Given the description of an element on the screen output the (x, y) to click on. 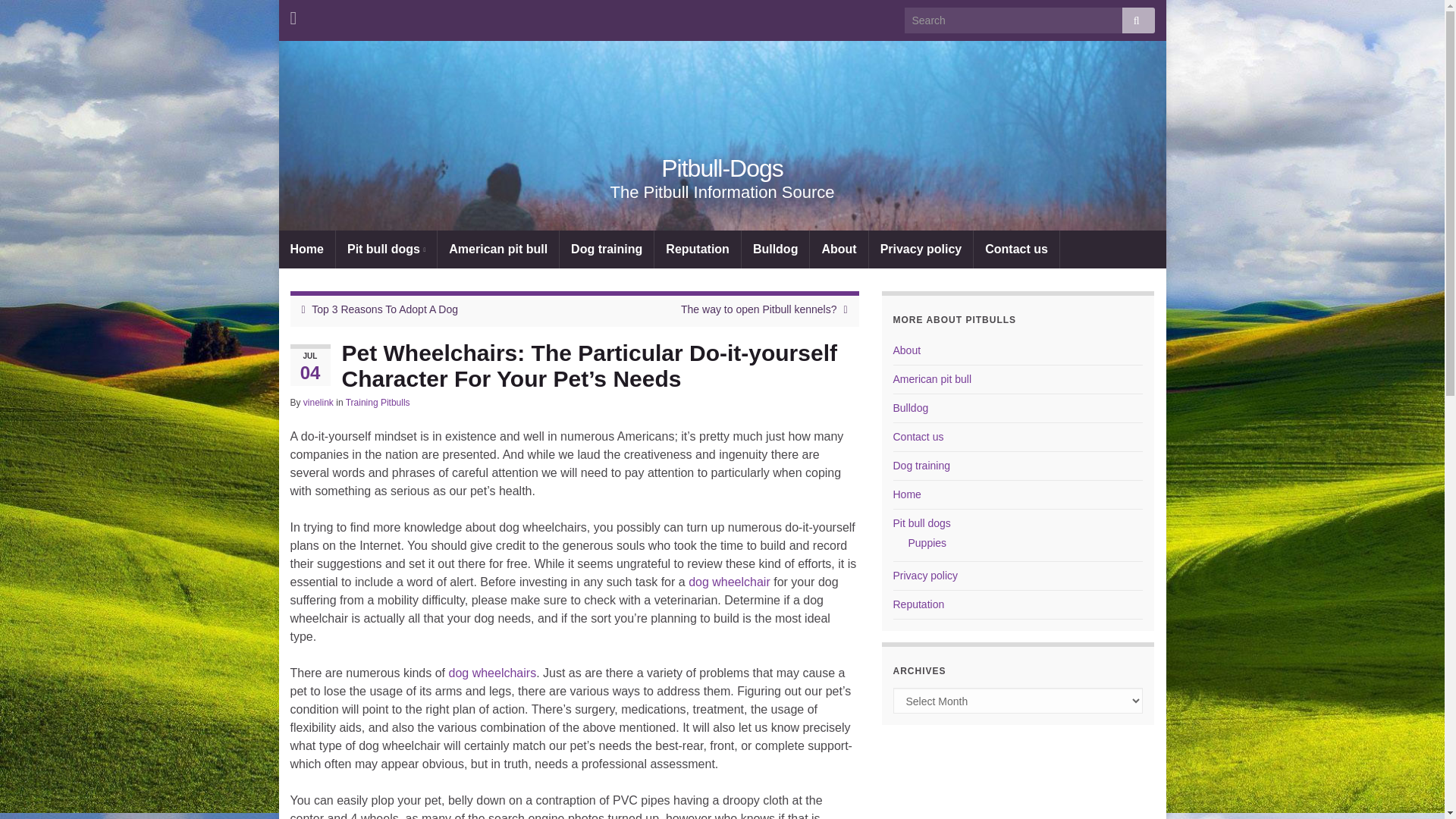
dog wheelchair (729, 581)
Go back to the front page (722, 167)
Pit bull dogs (386, 249)
About (907, 349)
vinelink (317, 402)
Dog training (606, 249)
Pitbull-Dogs (722, 167)
Home (306, 249)
Bulldog (775, 249)
Bulldog (910, 408)
